Given the description of an element on the screen output the (x, y) to click on. 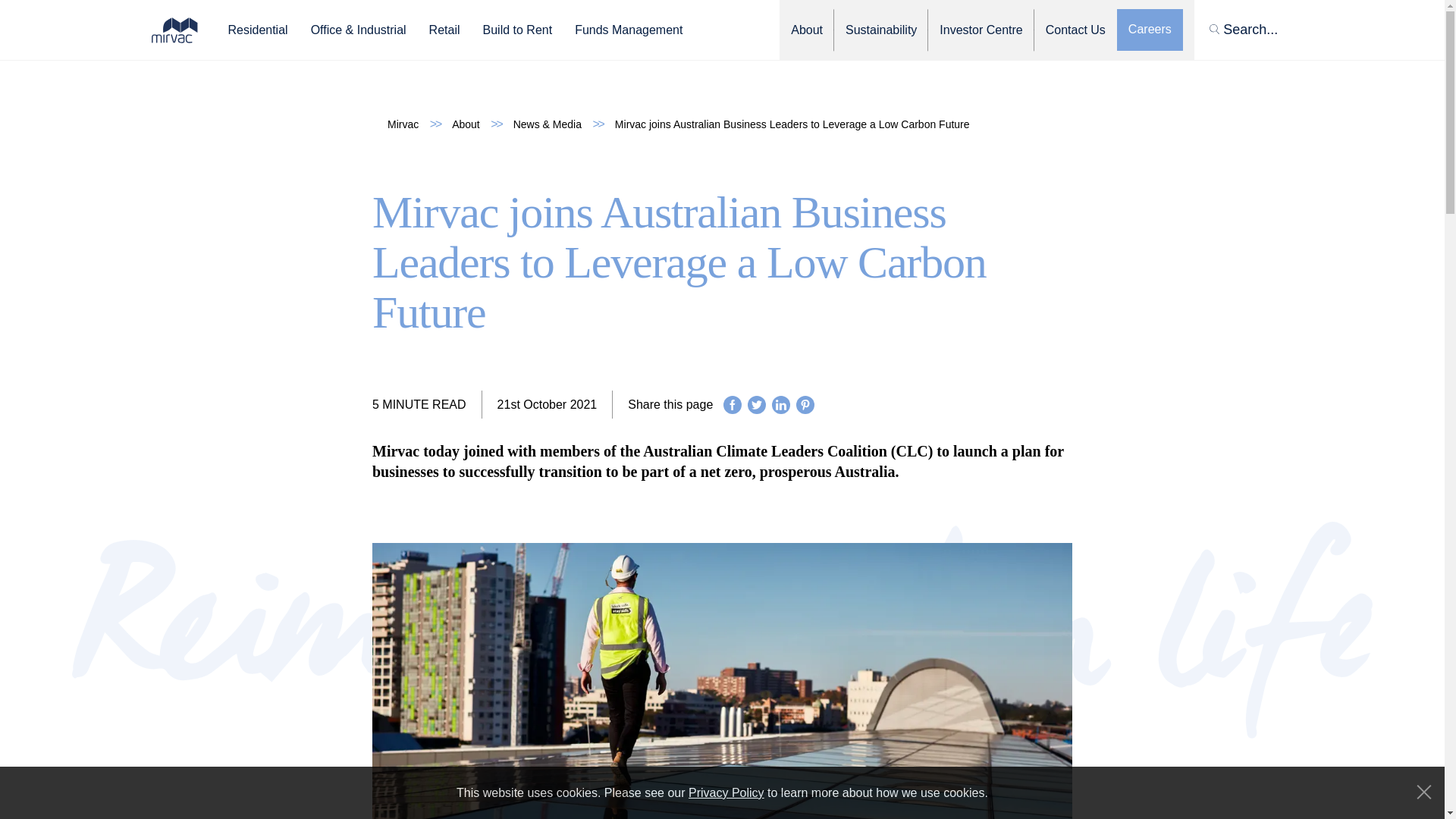
About (465, 125)
Image 1 (174, 29)
Home (403, 125)
Privacy policy (726, 792)
Residential (256, 30)
